Given the description of an element on the screen output the (x, y) to click on. 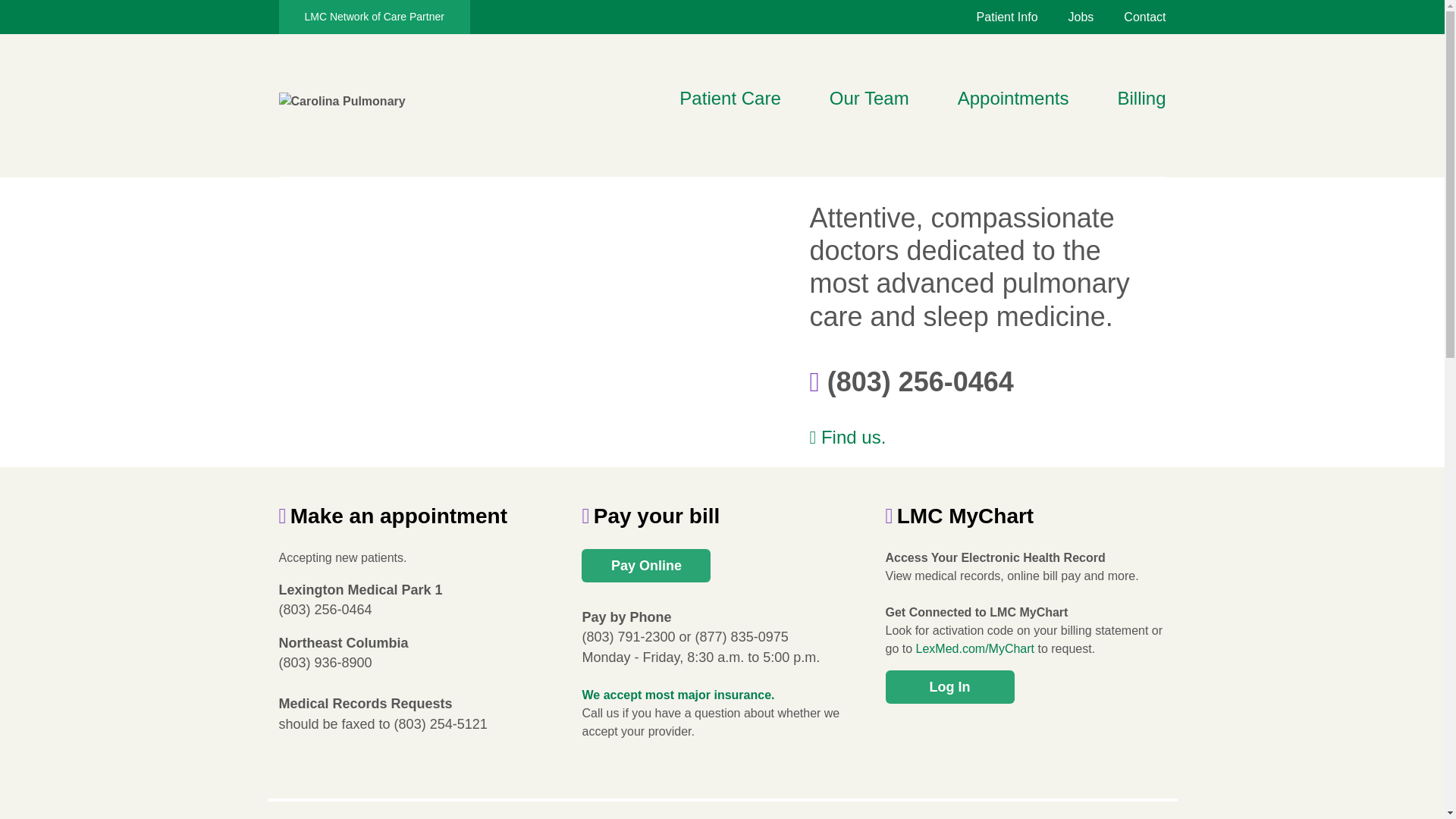
Patient Info (992, 17)
Jobs (1066, 17)
Patient Care (729, 101)
Log In (949, 686)
Billing (1141, 101)
LMC Network of Care Partner (374, 17)
Make an appointment (393, 515)
Pay your bill (649, 515)
Find us. (987, 437)
LMC MyChart (959, 515)
